Given the description of an element on the screen output the (x, y) to click on. 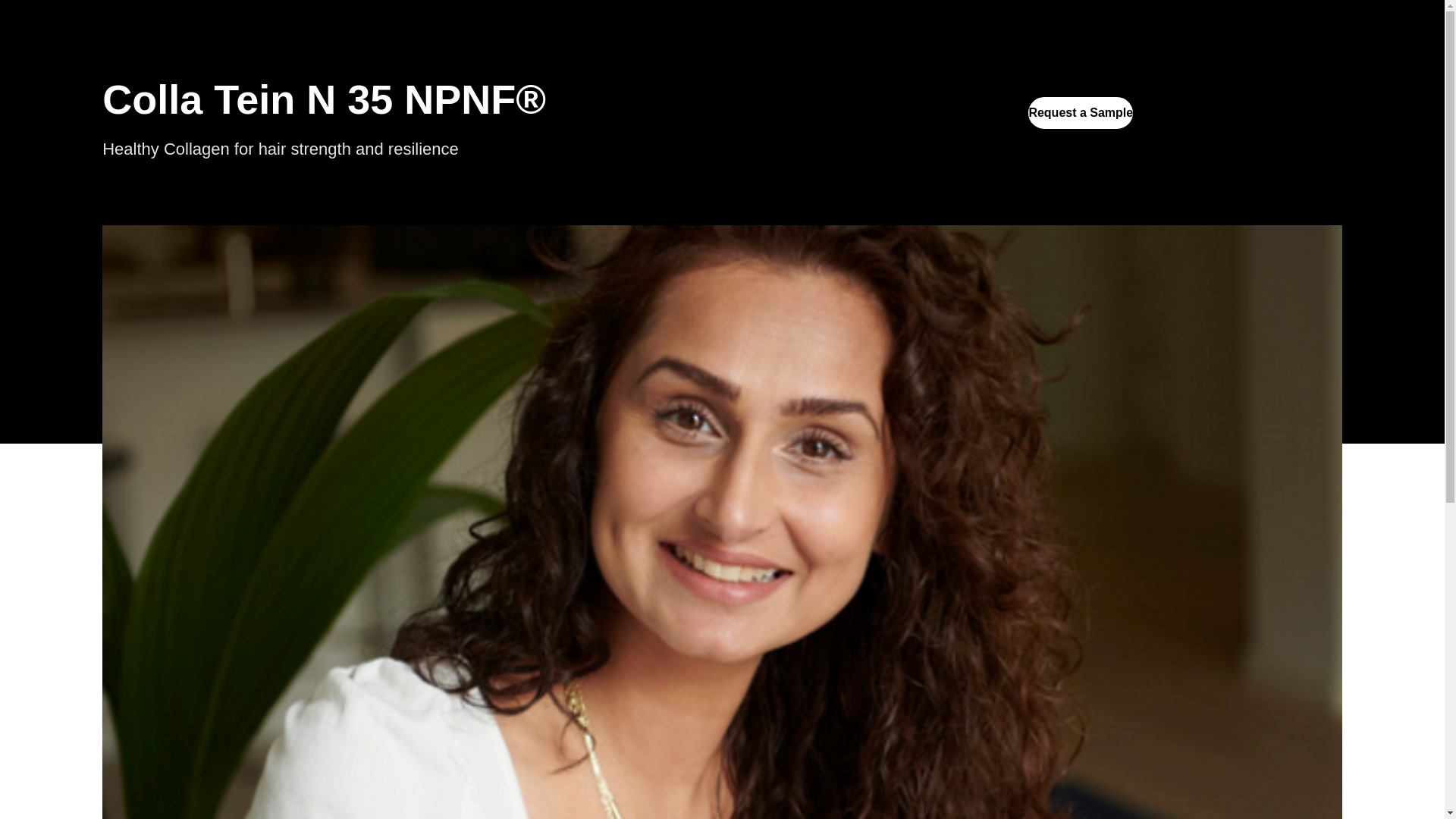
Request a Sample (1080, 112)
